Given the description of an element on the screen output the (x, y) to click on. 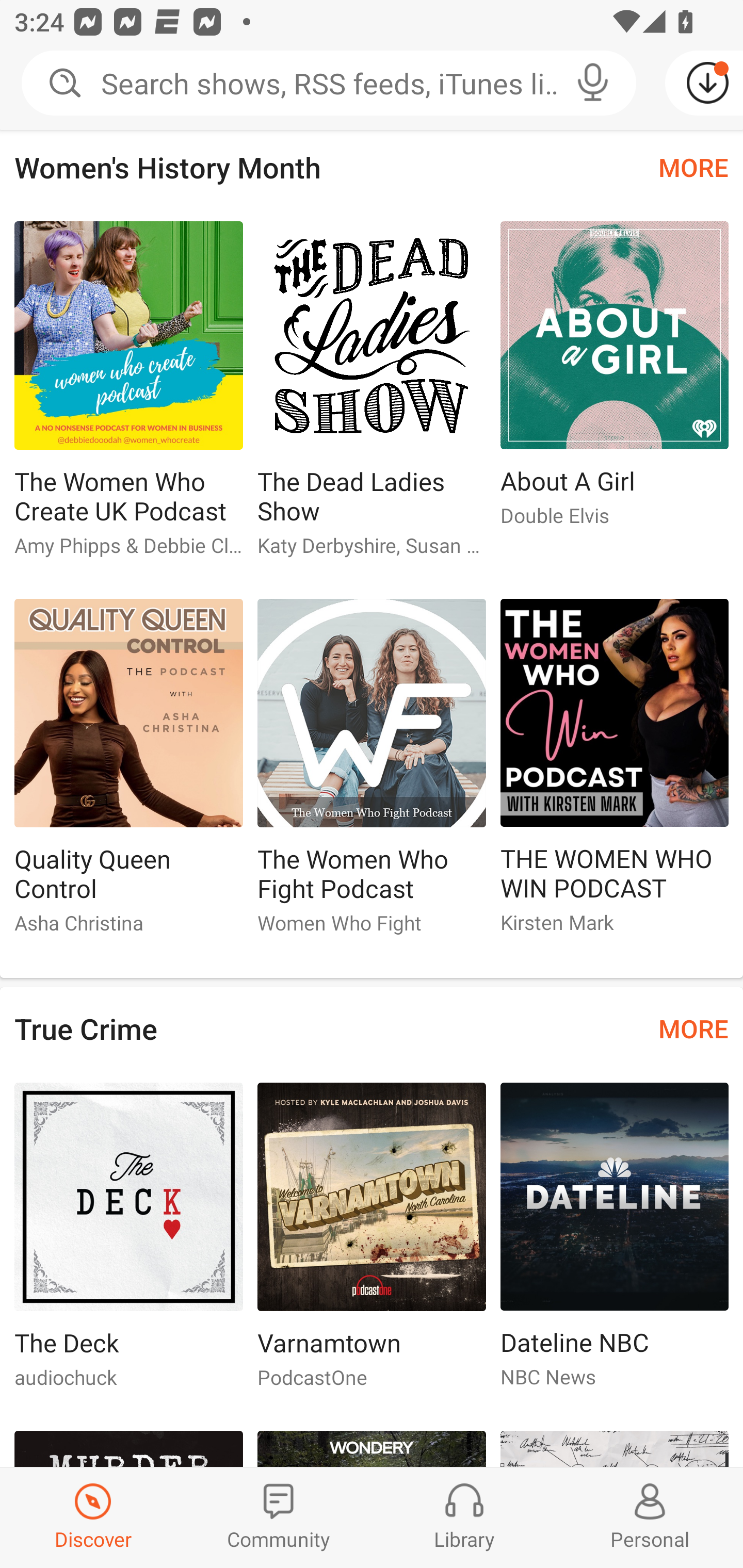
MORE (693, 167)
About A Girl About A Girl Double Elvis (614, 381)
MORE (693, 1028)
The Deck The Deck audiochuck (128, 1242)
Varnamtown Varnamtown PodcastOne (371, 1242)
Dateline NBC Dateline NBC NBC News (614, 1242)
Discover (92, 1517)
Community (278, 1517)
Library (464, 1517)
Profiles and Settings Personal (650, 1517)
